Given the description of an element on the screen output the (x, y) to click on. 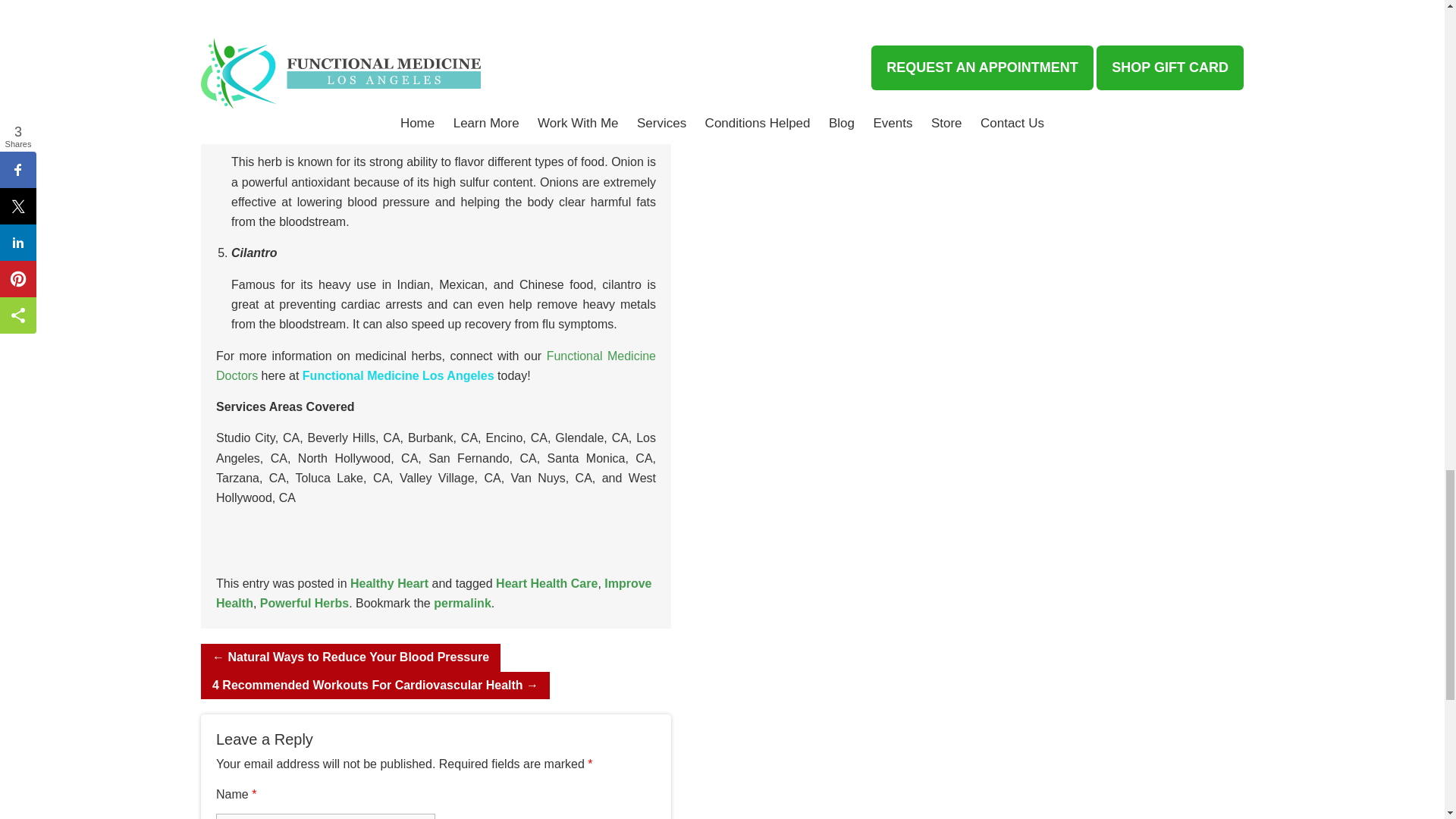
Permalink to 5 Powerful Herbs For Heart Health (462, 603)
Functional Medicine Doctors (435, 365)
Improve Health (433, 593)
Functional Medicine Los Angeles (398, 375)
Functional Medicine Hollywood (315, 78)
Heart Health Care (546, 583)
Healthy Heart (389, 583)
Powerful Herbs (304, 603)
permalink (462, 603)
